Given the description of an element on the screen output the (x, y) to click on. 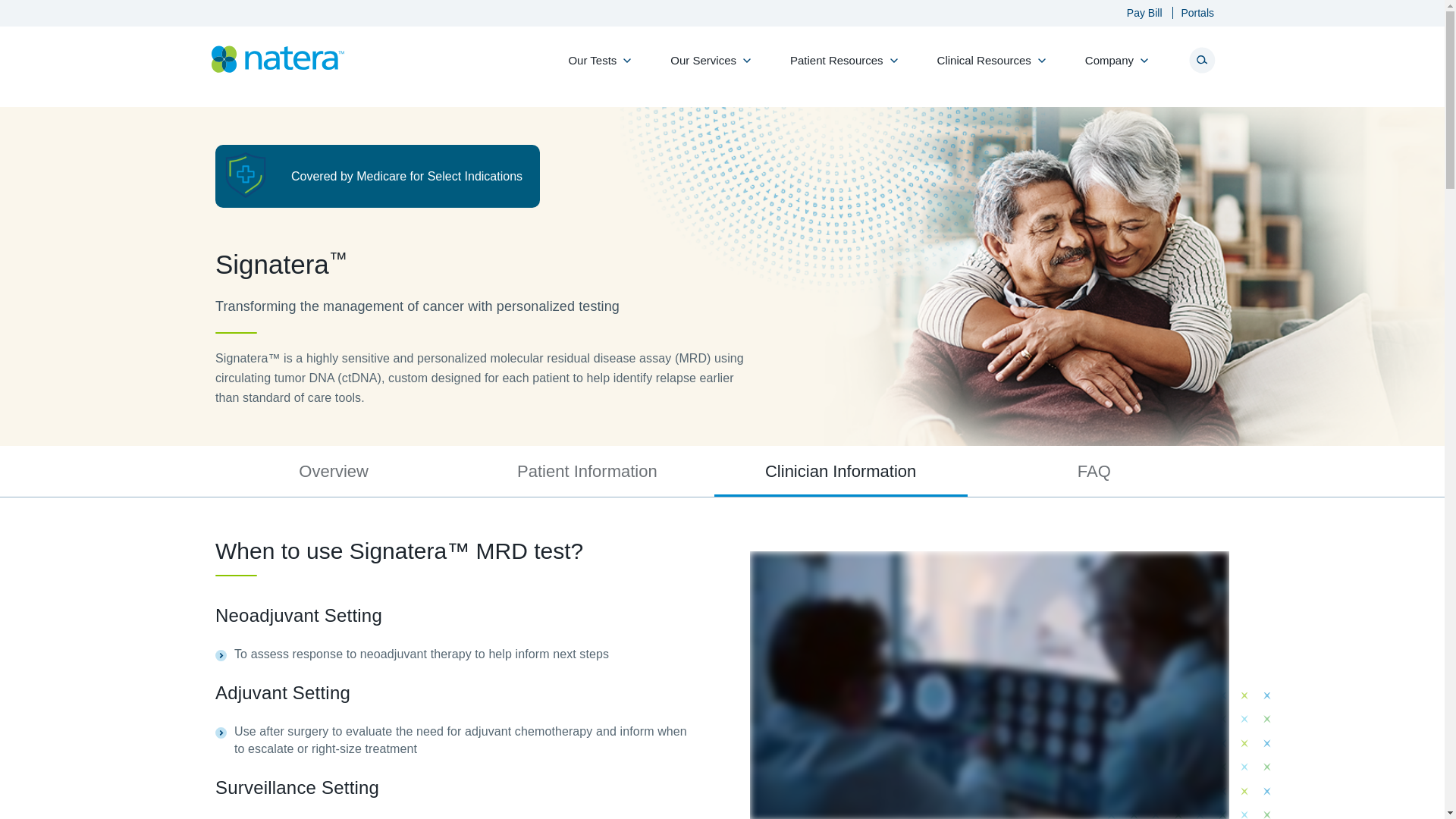
Pay Bill (1136, 12)
Portals (1189, 12)
Our Tests (595, 68)
